Given the description of an element on the screen output the (x, y) to click on. 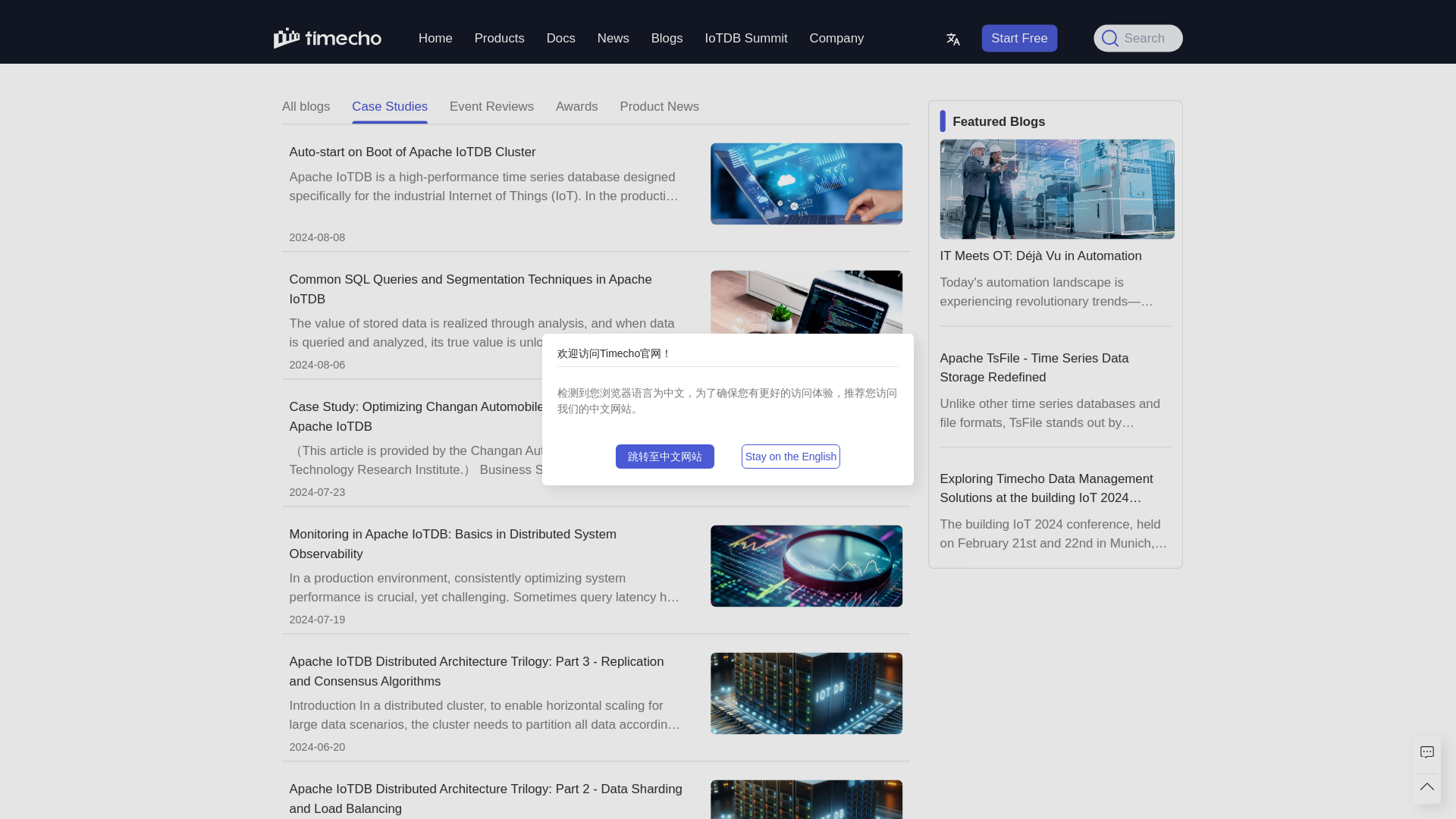
Search (1130, 35)
News (610, 37)
Docs (558, 37)
Home (432, 37)
All blogs (301, 110)
Search (1122, 35)
Blogs (664, 37)
Company (831, 37)
Event Reviews (484, 109)
